Given the description of an element on the screen output the (x, y) to click on. 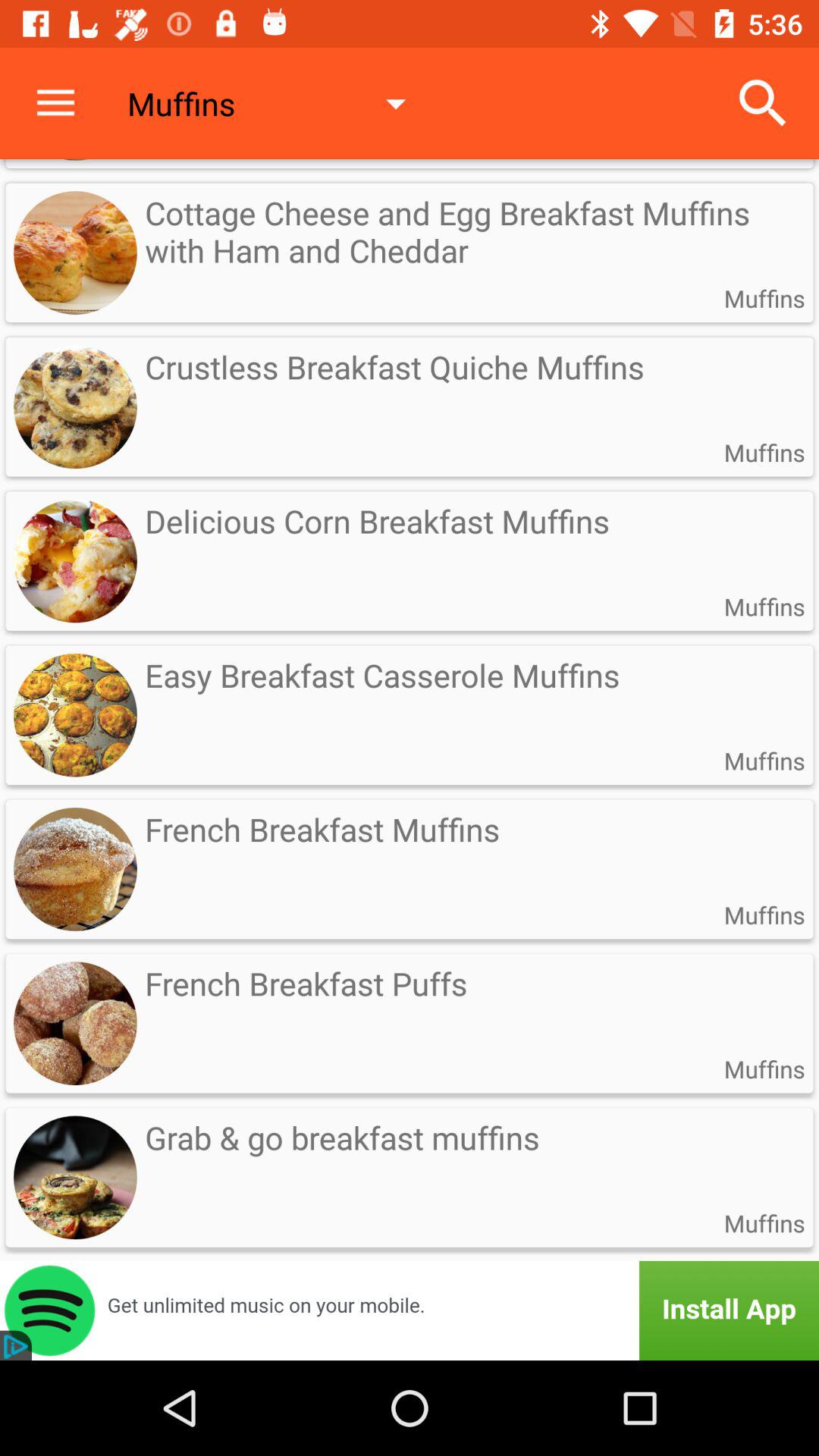
advertisement (409, 1310)
